Given the description of an element on the screen output the (x, y) to click on. 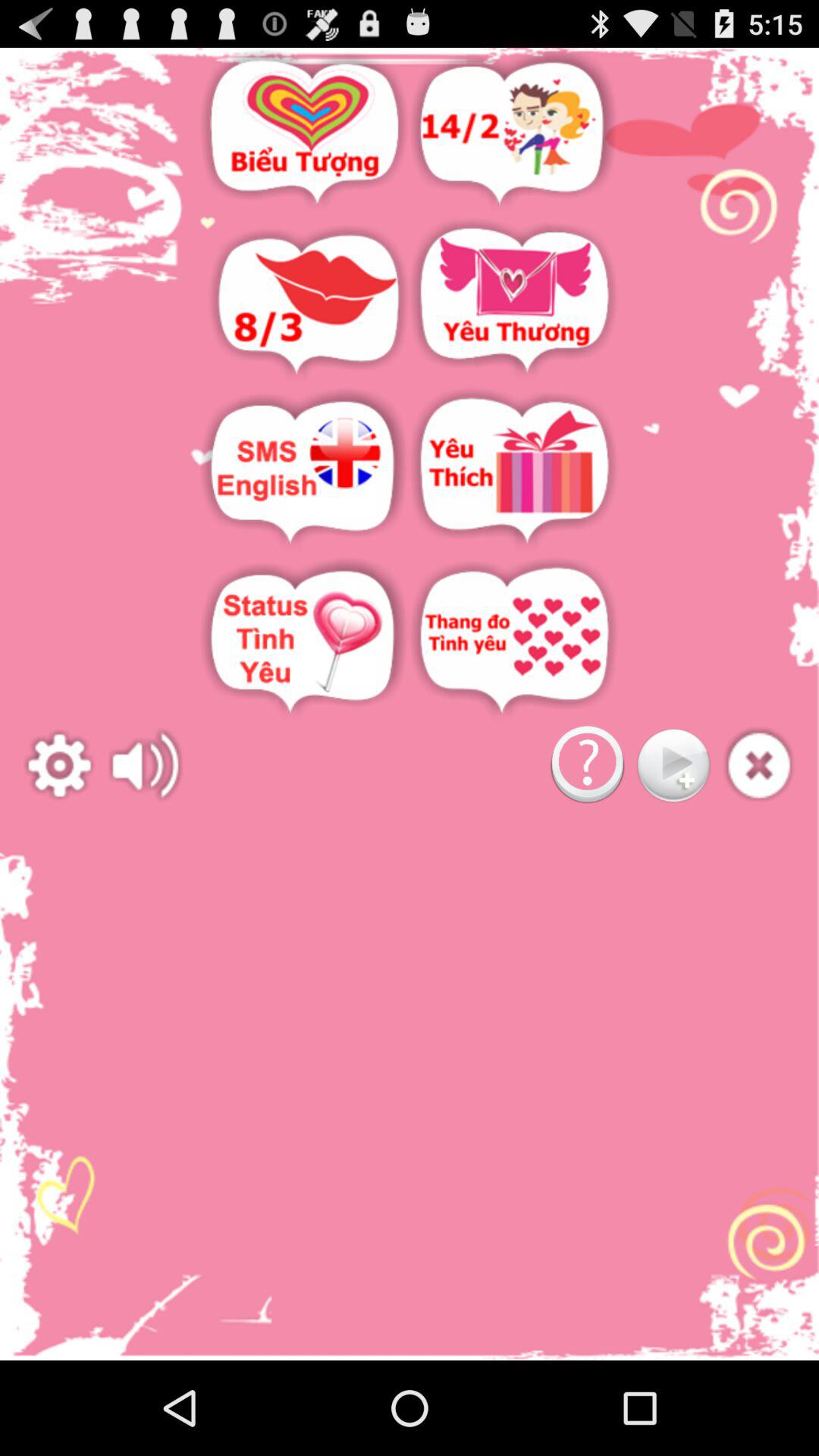
go to setting (59, 765)
